Given the description of an element on the screen output the (x, y) to click on. 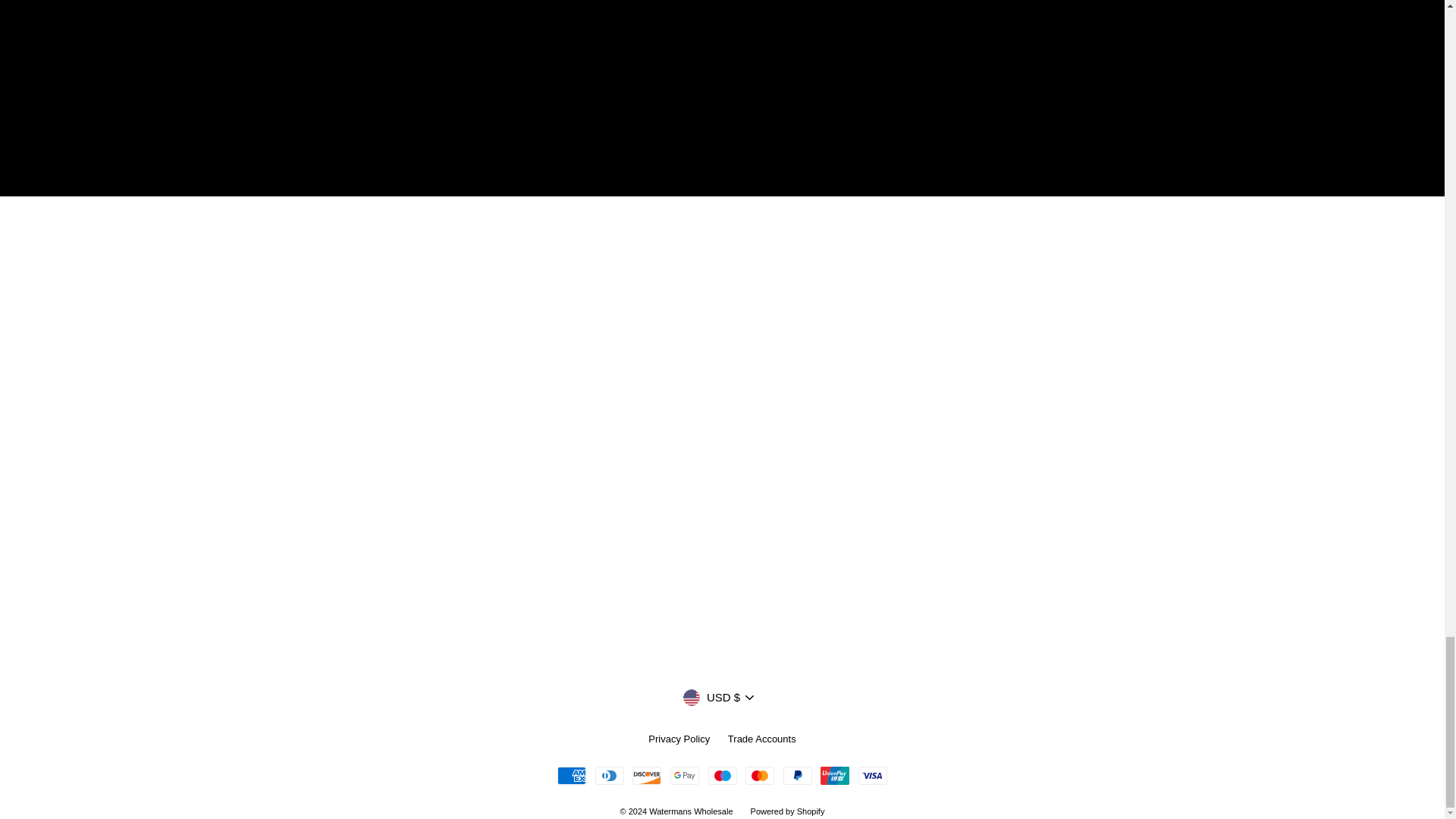
PayPal (797, 775)
American Express (571, 775)
Google Pay (683, 775)
Visa (872, 775)
Discover (646, 775)
Mastercard (759, 775)
Privacy Policy (678, 739)
Maestro (721, 775)
Union Pay (834, 775)
Powered by Shopify (788, 810)
